Given the description of an element on the screen output the (x, y) to click on. 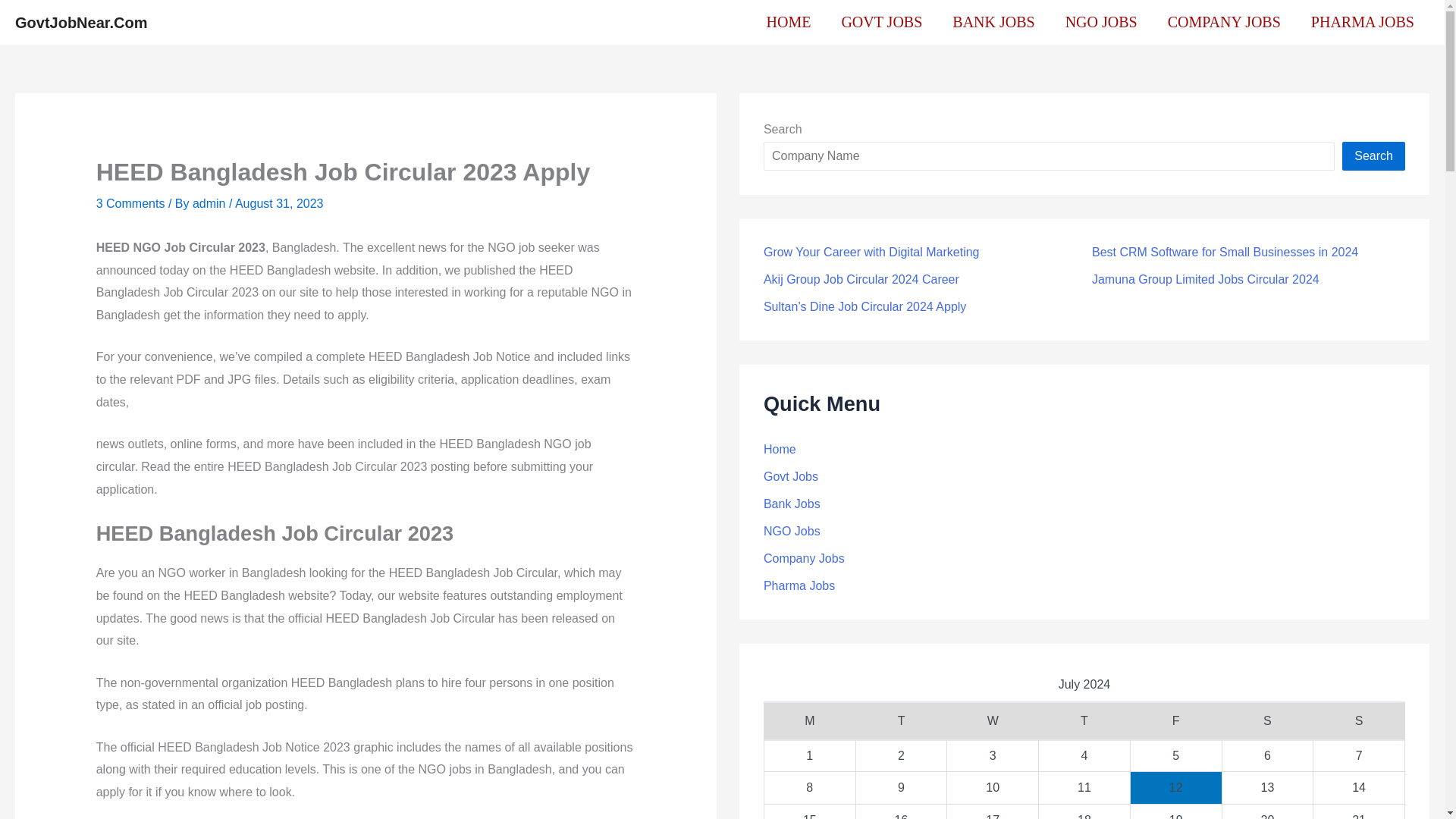
Monday (809, 720)
PHARMA JOBS (1362, 22)
Friday (1175, 720)
Tuesday (901, 720)
Saturday (1267, 720)
NGO JOBS (1101, 22)
View all posts by admin (210, 203)
GovtJobNear.Com (80, 21)
BANK JOBS (993, 22)
3 Comments (130, 203)
COMPANY JOBS (1224, 22)
GOVT JOBS (881, 22)
HOME (789, 22)
Thursday (1085, 720)
admin (210, 203)
